Given the description of an element on the screen output the (x, y) to click on. 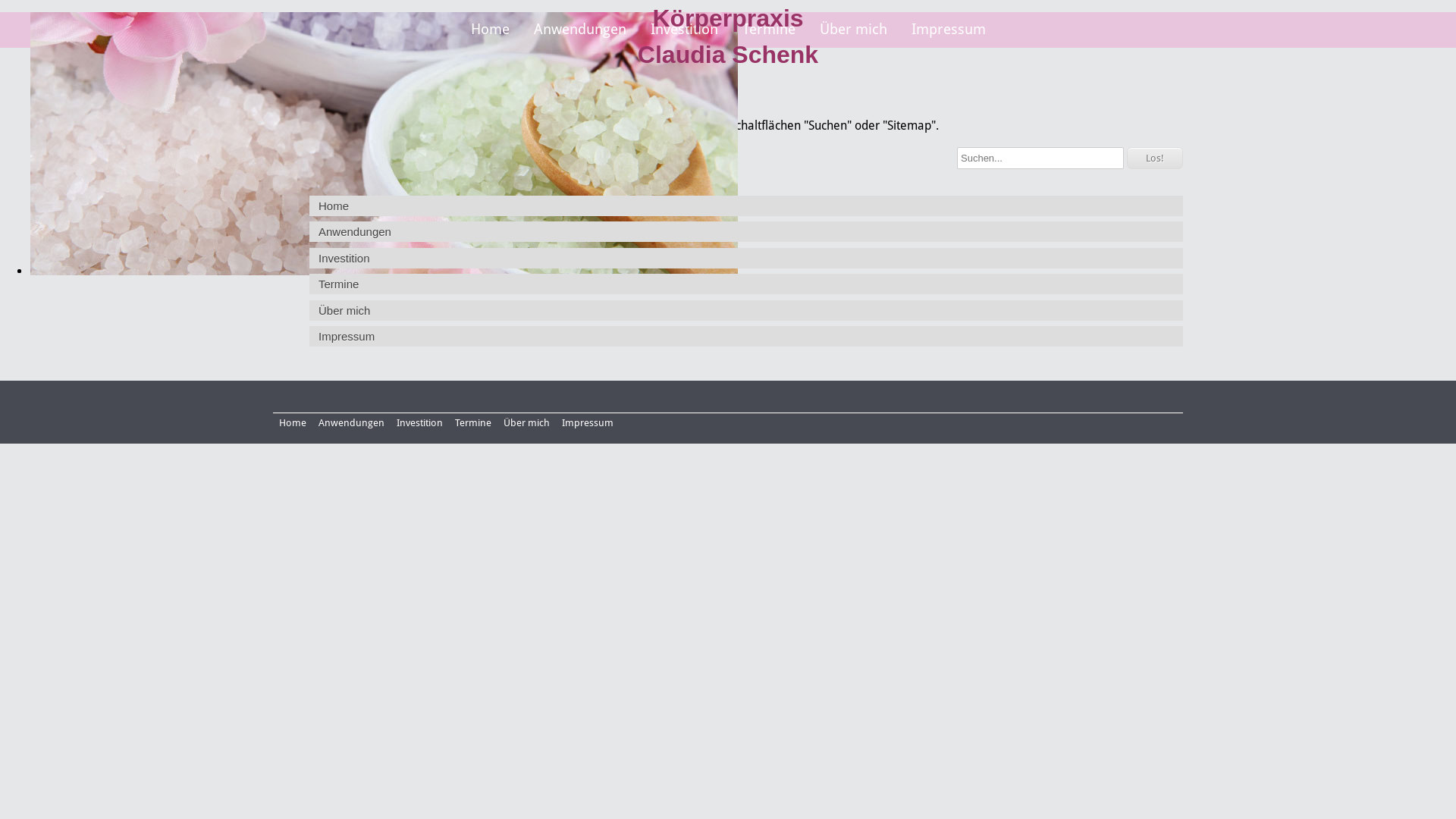
Termine Element type: text (473, 422)
Home Element type: text (489, 29)
Impressum Element type: text (948, 29)
Investition Element type: text (419, 422)
Impressum Element type: text (746, 336)
Anwendungen Element type: text (746, 231)
Home Element type: text (292, 422)
Termine Element type: text (746, 283)
Los! Element type: text (1154, 158)
Anwendungen Element type: text (579, 29)
Investition Element type: text (746, 257)
Anwendungen Element type: text (351, 422)
Home Element type: text (746, 205)
Termine Element type: text (767, 29)
Investition Element type: text (684, 29)
Impressum Element type: text (587, 422)
